Given the description of an element on the screen output the (x, y) to click on. 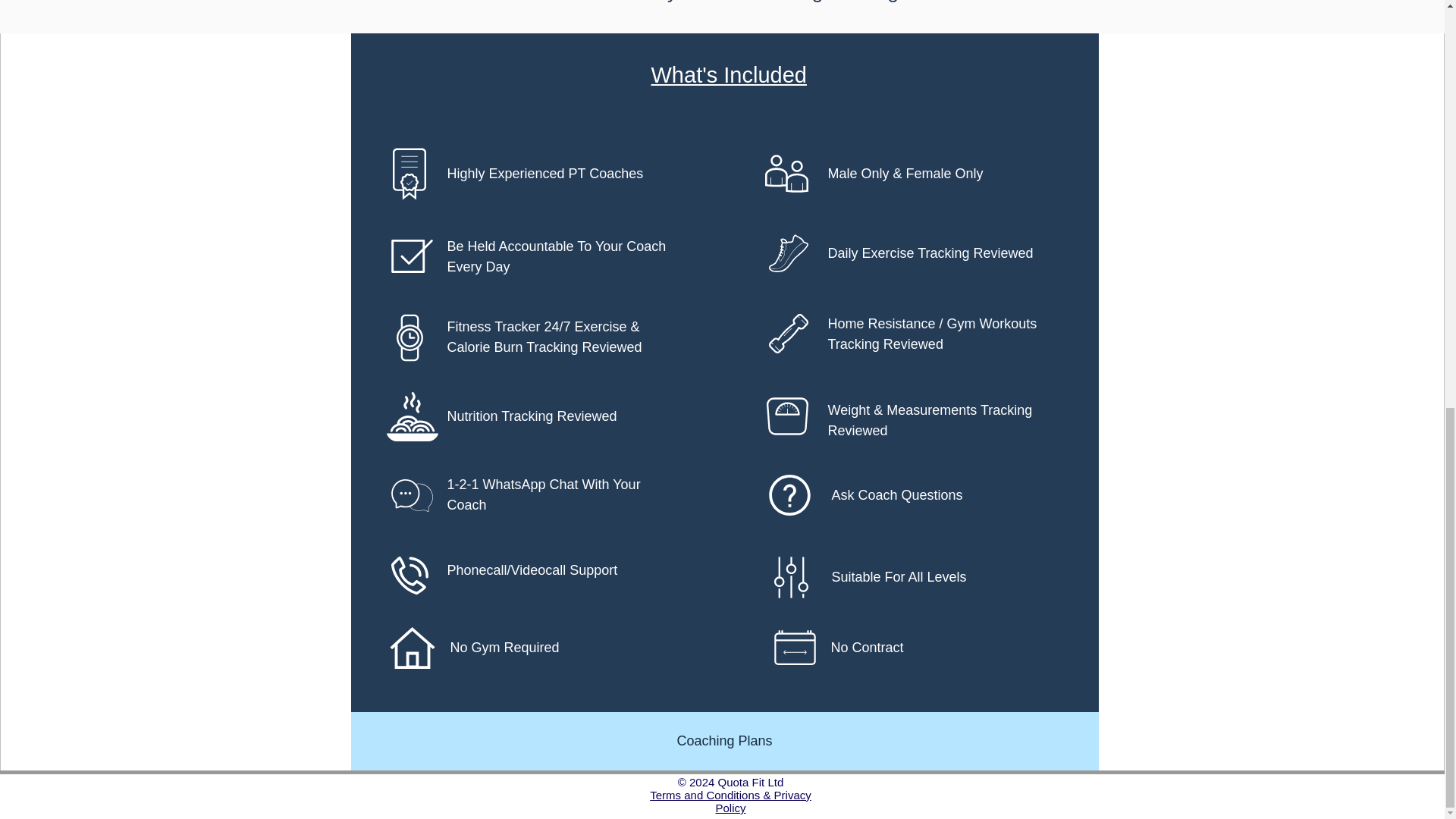
Coaching Plans (723, 740)
